Given the description of an element on the screen output the (x, y) to click on. 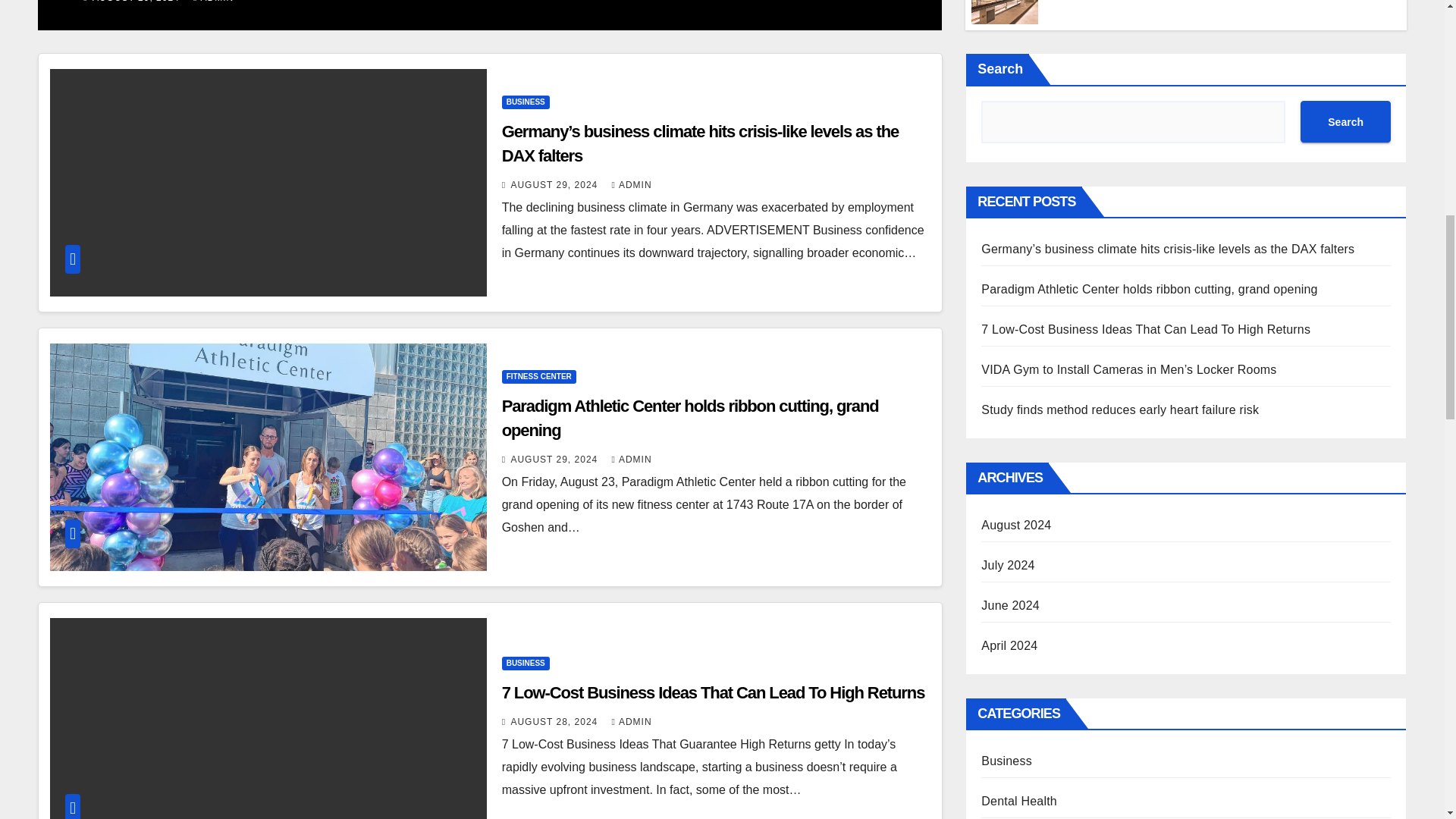
ADMIN (212, 1)
7 Low-Cost Business Ideas That Can Lead To High Returns (1004, 16)
AUGUST 29, 2024 (138, 1)
